Given the description of an element on the screen output the (x, y) to click on. 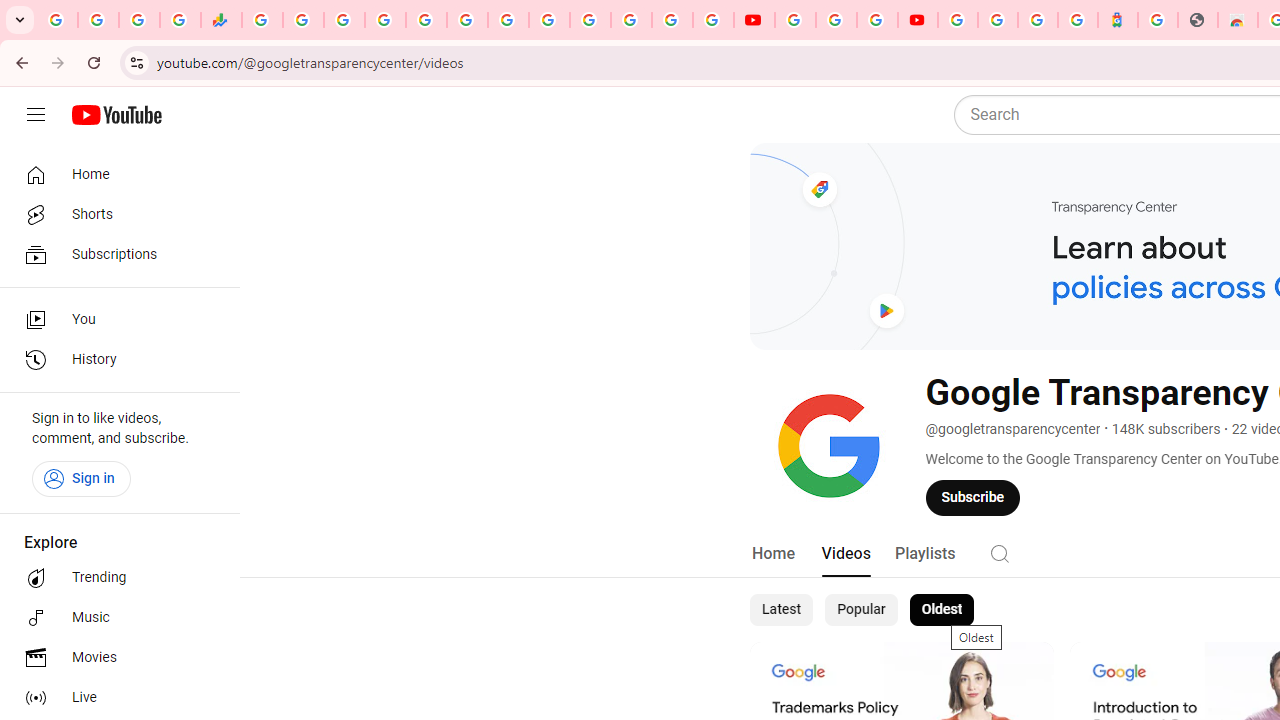
Android TV Policies and Guidelines - Transparency Center (507, 20)
Google Account Help (836, 20)
YouTube (795, 20)
Live (113, 697)
Music (113, 617)
Subscribe (973, 497)
YouTube (548, 20)
History (113, 359)
Atour Hotel - Google hotels (1117, 20)
Guide (35, 115)
Search (999, 552)
